Given the description of an element on the screen output the (x, y) to click on. 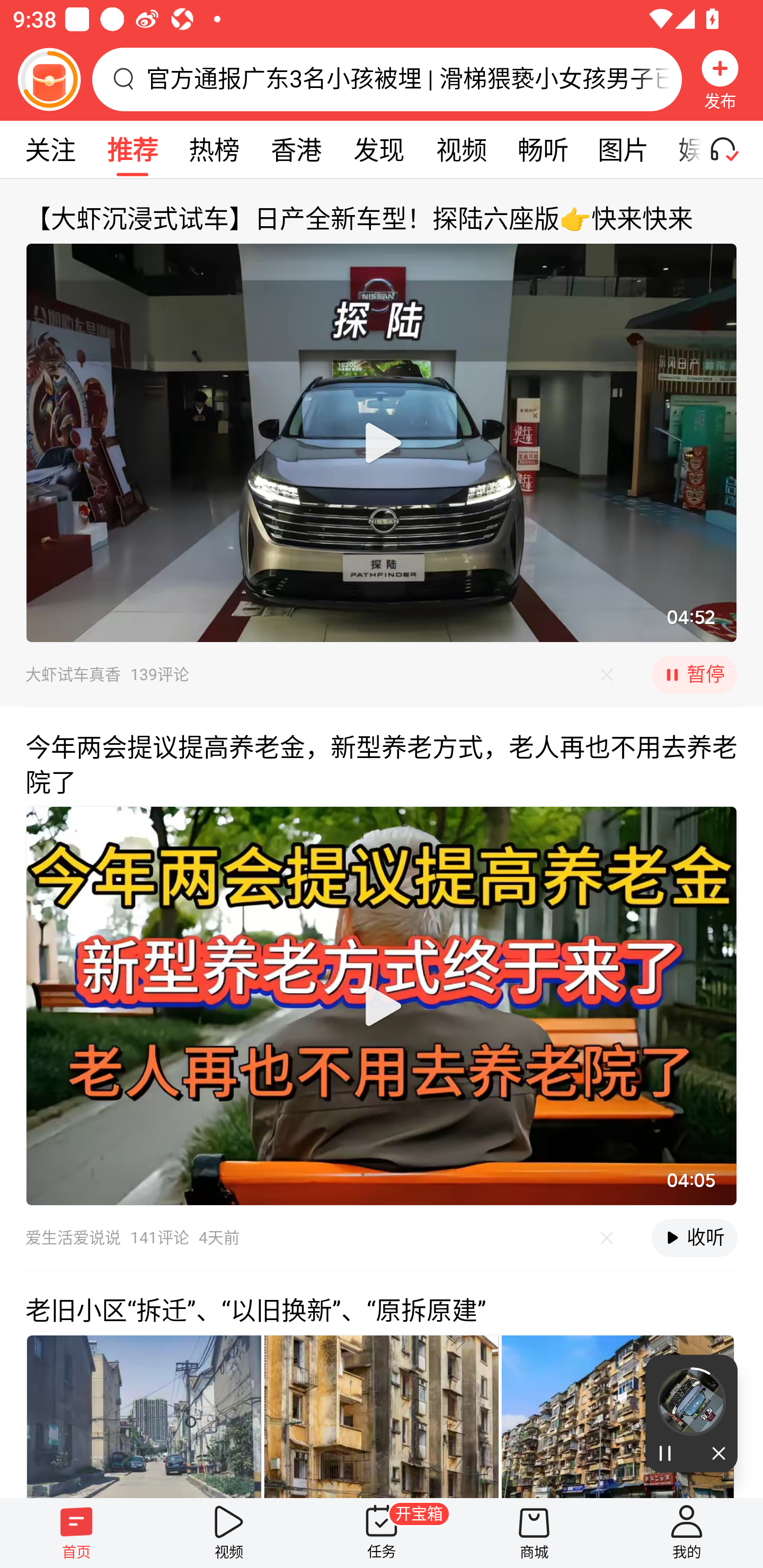
阅读赚金币 (48, 79)
发布 发布，按钮 (720, 78)
关注 (50, 149)
推荐 (132, 149)
热榜 (213, 149)
香港 (295, 149)
发现 (378, 149)
视频 (461, 149)
畅听 (542, 149)
图片 (623, 149)
听一听开关 (732, 149)
播放视频 视频播放器，双击屏幕打开播放控制 (381, 442)
播放视频 (381, 442)
暂停 (694, 674)
不感兴趣 (607, 673)
播放视频 视频播放器，双击屏幕打开播放控制 (381, 1005)
播放视频 (381, 1005)
收听 (694, 1237)
不感兴趣 (607, 1237)
内容图片 (143, 1415)
内容图片 (381, 1415)
内容图片 (617, 1415)
当前进度 9% 暂停 关闭 (691, 1413)
暂停 (668, 1454)
关闭 (714, 1454)
首页 (76, 1532)
视频 (228, 1532)
任务 开宝箱 (381, 1532)
商城 (533, 1532)
我的 (686, 1532)
